Given the description of an element on the screen output the (x, y) to click on. 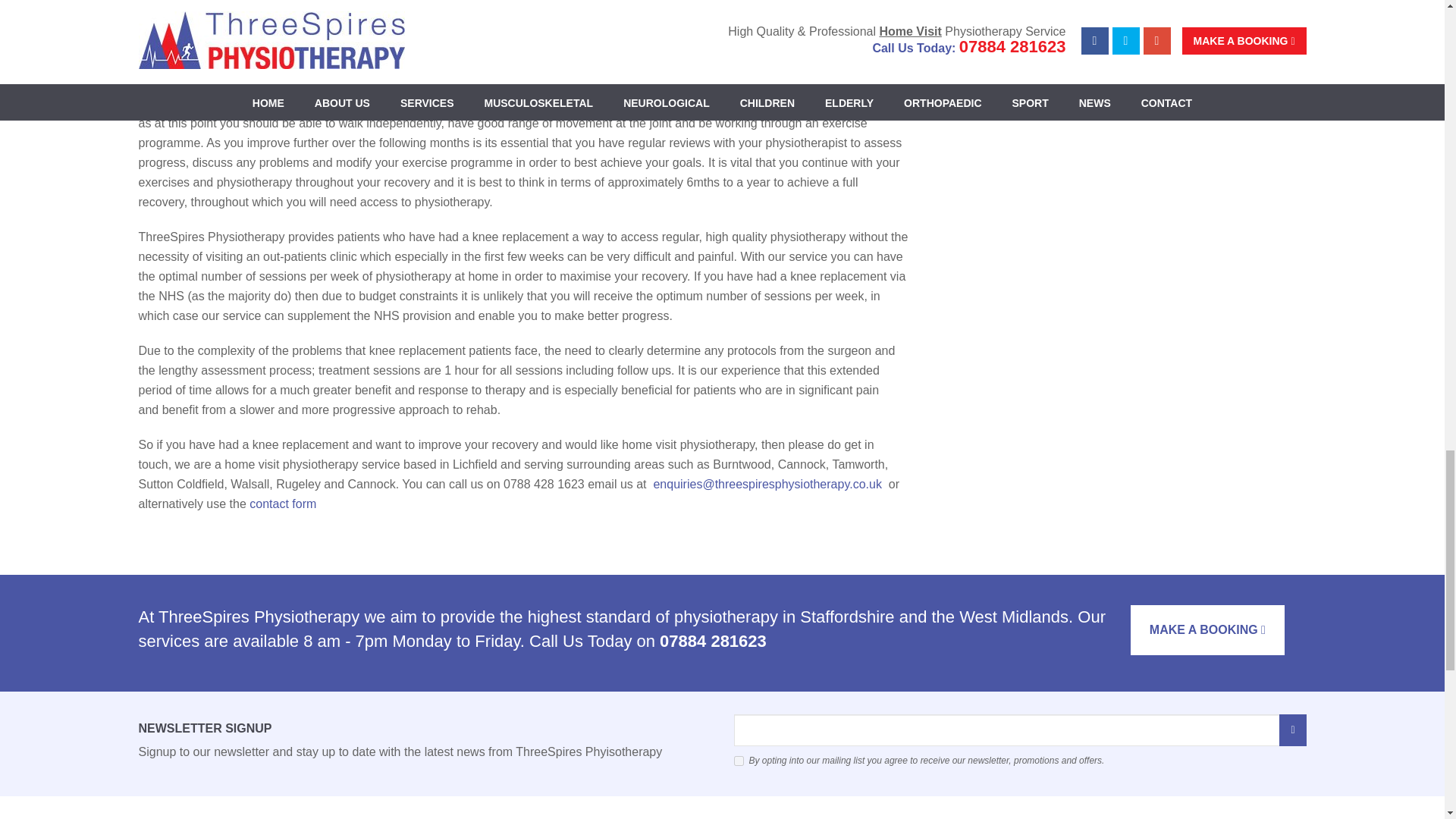
1 (738, 760)
